Given the description of an element on the screen output the (x, y) to click on. 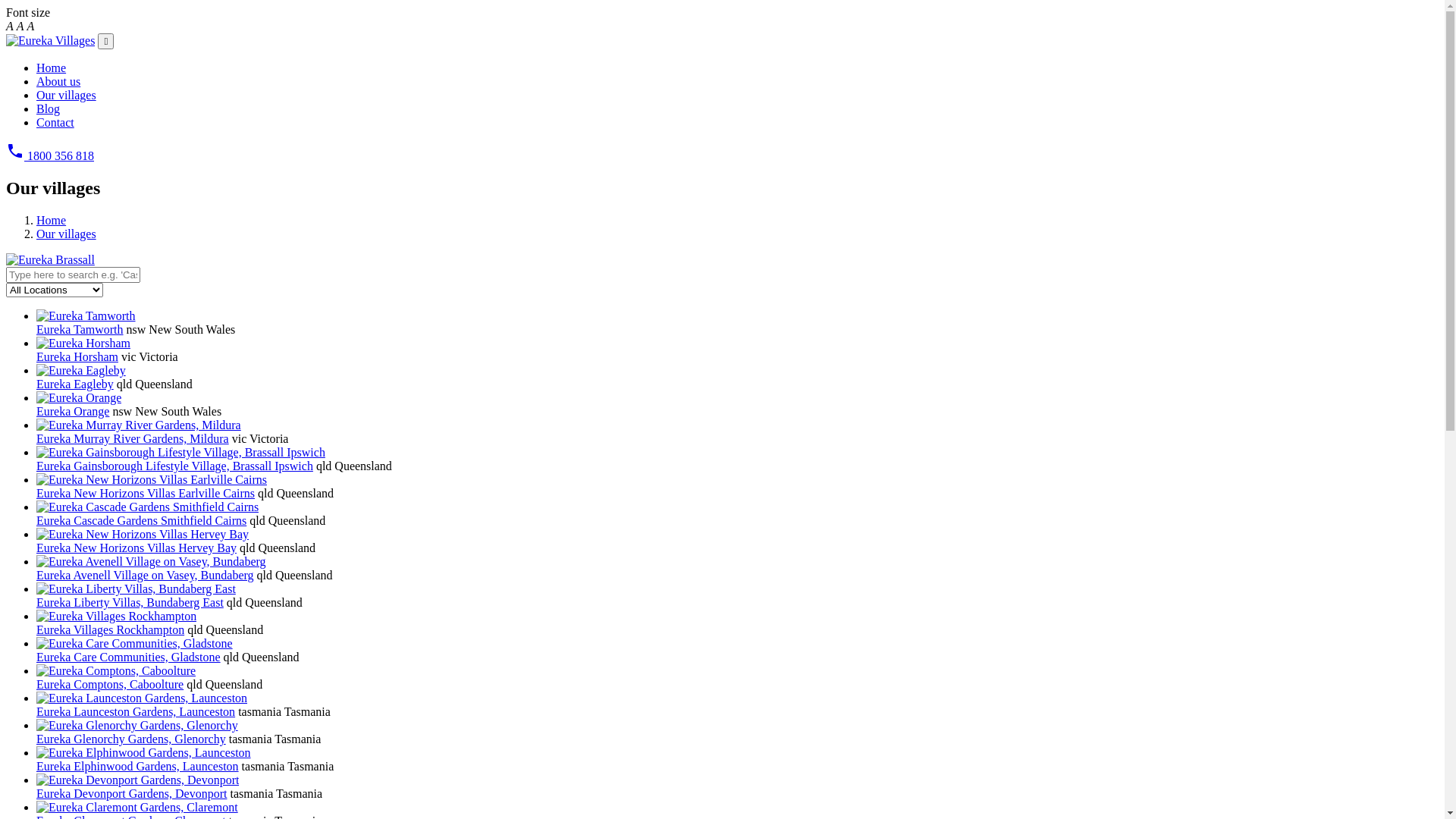
Our villages Element type: text (66, 233)
Eureka Orange Element type: text (72, 410)
Blog Element type: text (47, 108)
Our villages Element type: text (66, 94)
Eureka New Horizons Villas Earlville Cairns Element type: text (145, 492)
Eureka Tamworth Element type: text (79, 329)
Eureka Devonport Gardens, Devonport Element type: text (131, 793)
Eureka Launceston Gardens, Launceston Element type: text (135, 711)
Eureka Villages Rockhampton Element type: text (110, 629)
Home Element type: text (50, 219)
phone 1800 356 818 Element type: text (50, 155)
About us Element type: text (58, 81)
Eureka New Horizons Villas Hervey Bay Element type: text (136, 547)
Contact Element type: text (55, 122)
Eureka Horsham Element type: text (77, 356)
Eureka Avenell Village on Vasey, Bundaberg Element type: text (145, 574)
Eureka Elphinwood Gardens, Launceston Element type: text (137, 765)
Eureka Care Communities, Gladstone Element type: text (128, 656)
Eureka Comptons, Caboolture Element type: text (109, 683)
Eureka Liberty Villas, Bundaberg East Element type: text (129, 602)
Eureka Eagleby Element type: text (74, 383)
Eureka Gainsborough Lifestyle Village, Brassall Ipswich Element type: text (174, 465)
Eureka Cascade Gardens Smithfield Cairns Element type: text (141, 520)
Home Element type: text (50, 67)
Eureka Murray River Gardens, Mildura Element type: text (132, 438)
Eureka Glenorchy Gardens, Glenorchy Element type: text (130, 738)
